Given the description of an element on the screen output the (x, y) to click on. 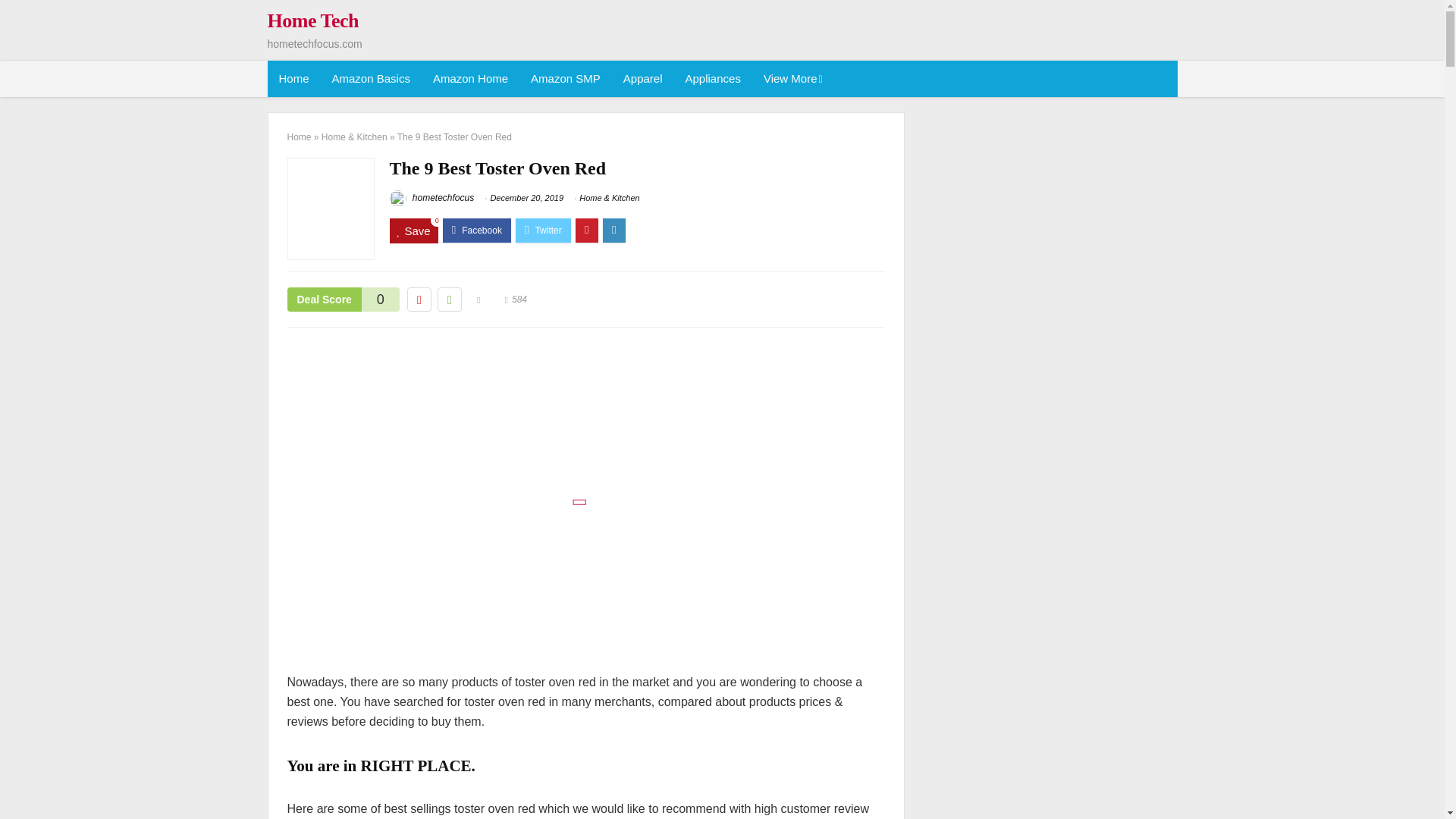
Appliances (713, 78)
Amazon Basics (371, 78)
View More (791, 78)
Amazon Home (470, 78)
Vote down (418, 299)
Amazon SMP (565, 78)
Home (293, 78)
Apparel (642, 78)
